Given the description of an element on the screen output the (x, y) to click on. 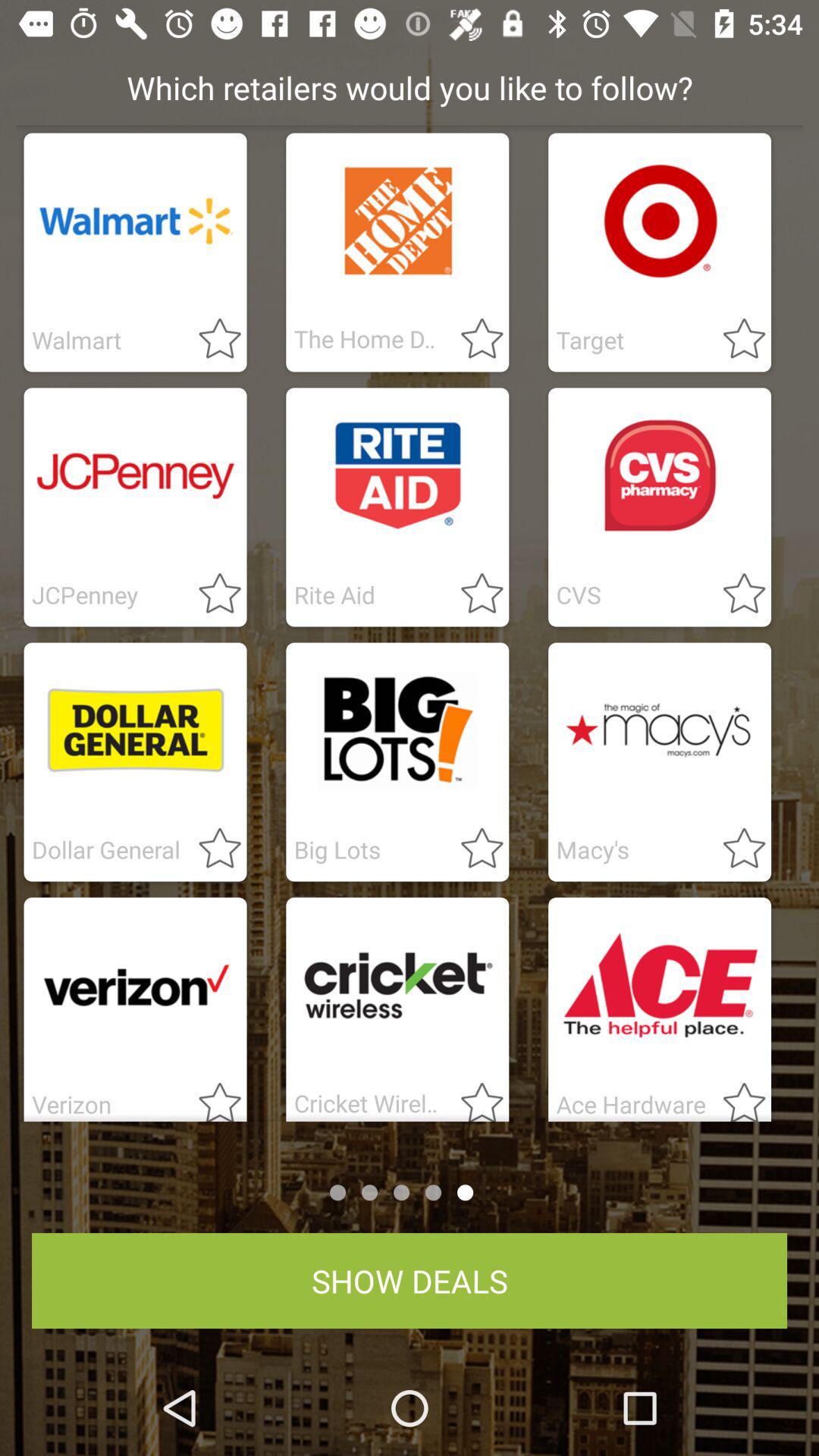
select the logo of cvs (659, 475)
